Given the description of an element on the screen output the (x, y) to click on. 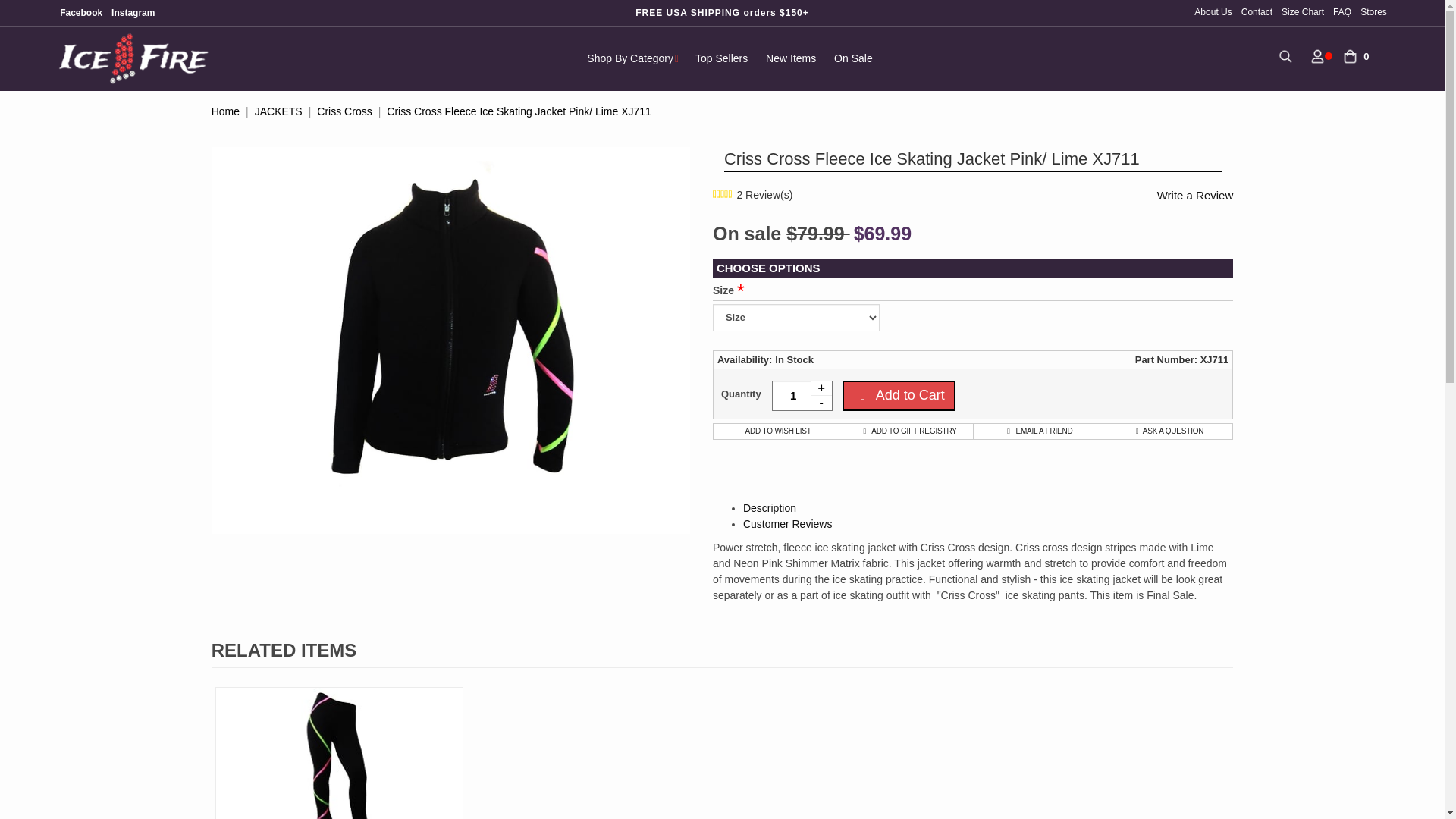
About Us (1214, 11)
Top Sellers (721, 58)
1 (801, 395)
Like Us on Facebook (79, 12)
Size Chart (1301, 11)
Facebook (79, 12)
New Items (791, 58)
Instagram (131, 12)
Open Search Bar (1285, 55)
Login or Create an Account (1317, 55)
